Given the description of an element on the screen output the (x, y) to click on. 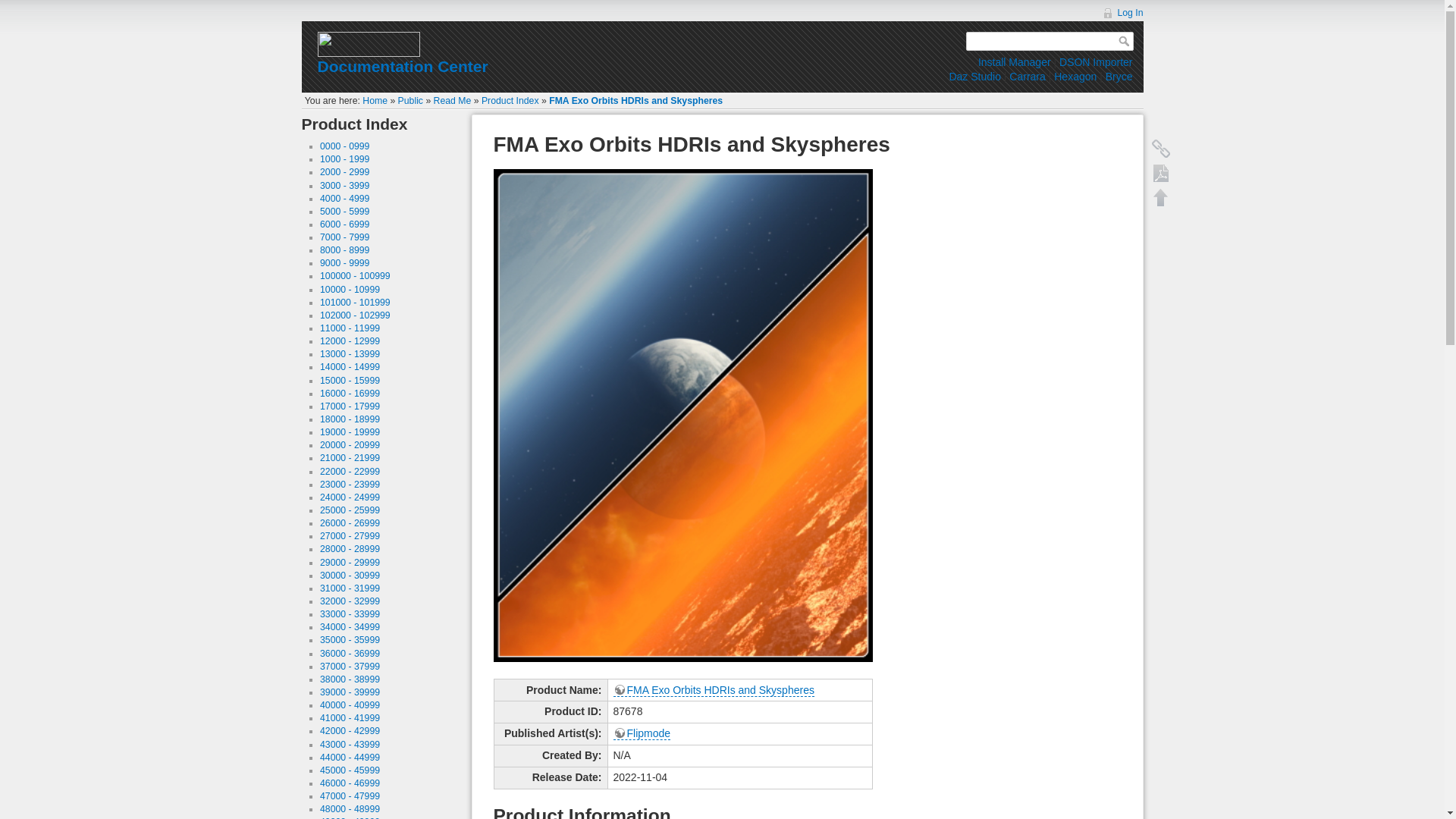
Read Me (452, 100)
11000 - 11999 (350, 327)
101000 - 101999 (355, 302)
3000 - 3999 (344, 185)
2000 - 2999 (344, 172)
public:software:bryce:start (1118, 76)
5000 - 5999 (344, 211)
Hexagon (1075, 76)
9000 - 9999 (344, 262)
Daz Studio (974, 76)
